Given the description of an element on the screen output the (x, y) to click on. 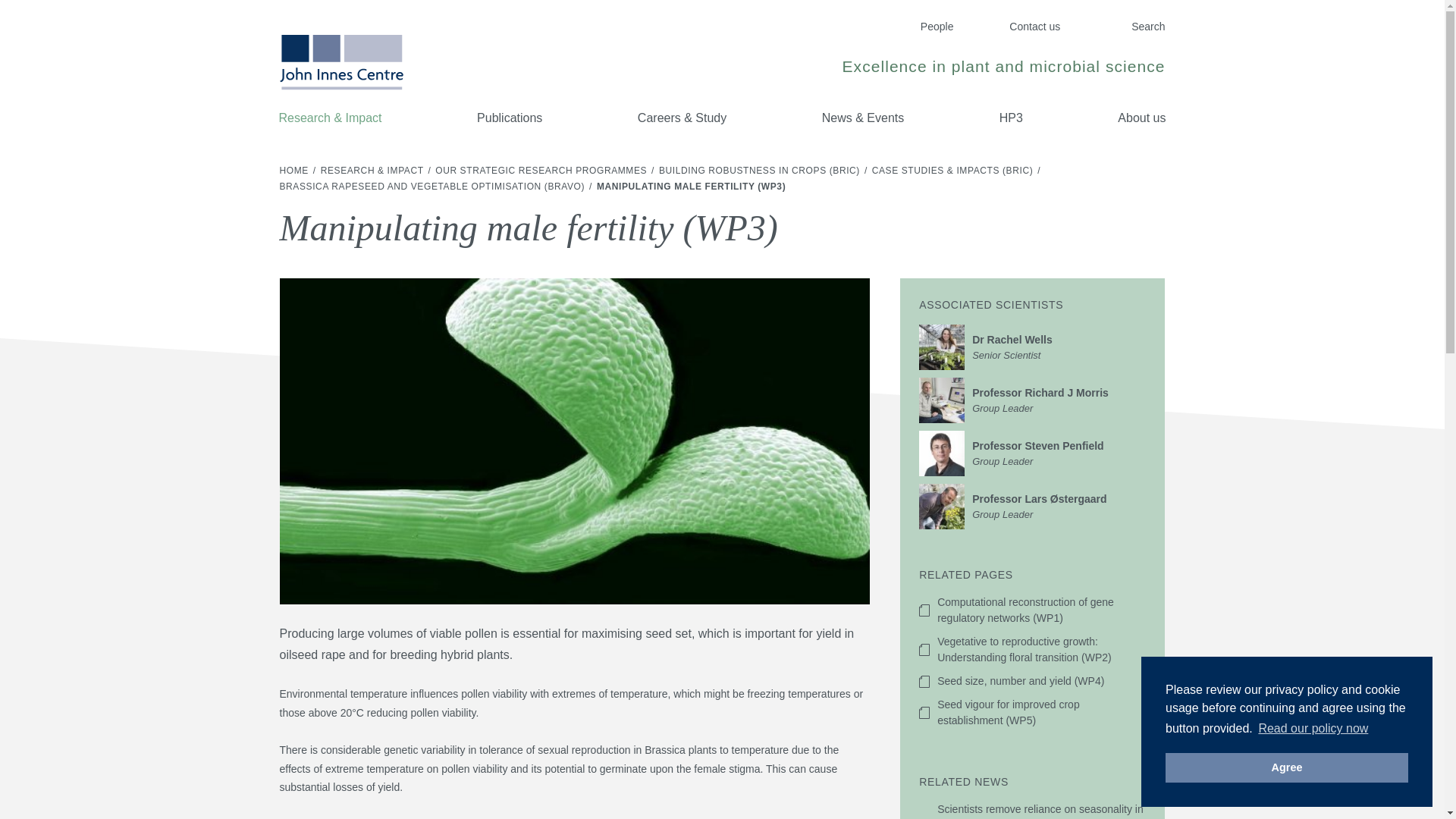
OUR STRATEGIC RESEARCH PROGRAMMES (1031, 347)
Publications (542, 170)
Agree (509, 117)
HOME (1286, 767)
Contact us (295, 170)
About us (1034, 26)
Read our policy now (1141, 117)
People (1312, 728)
